Given the description of an element on the screen output the (x, y) to click on. 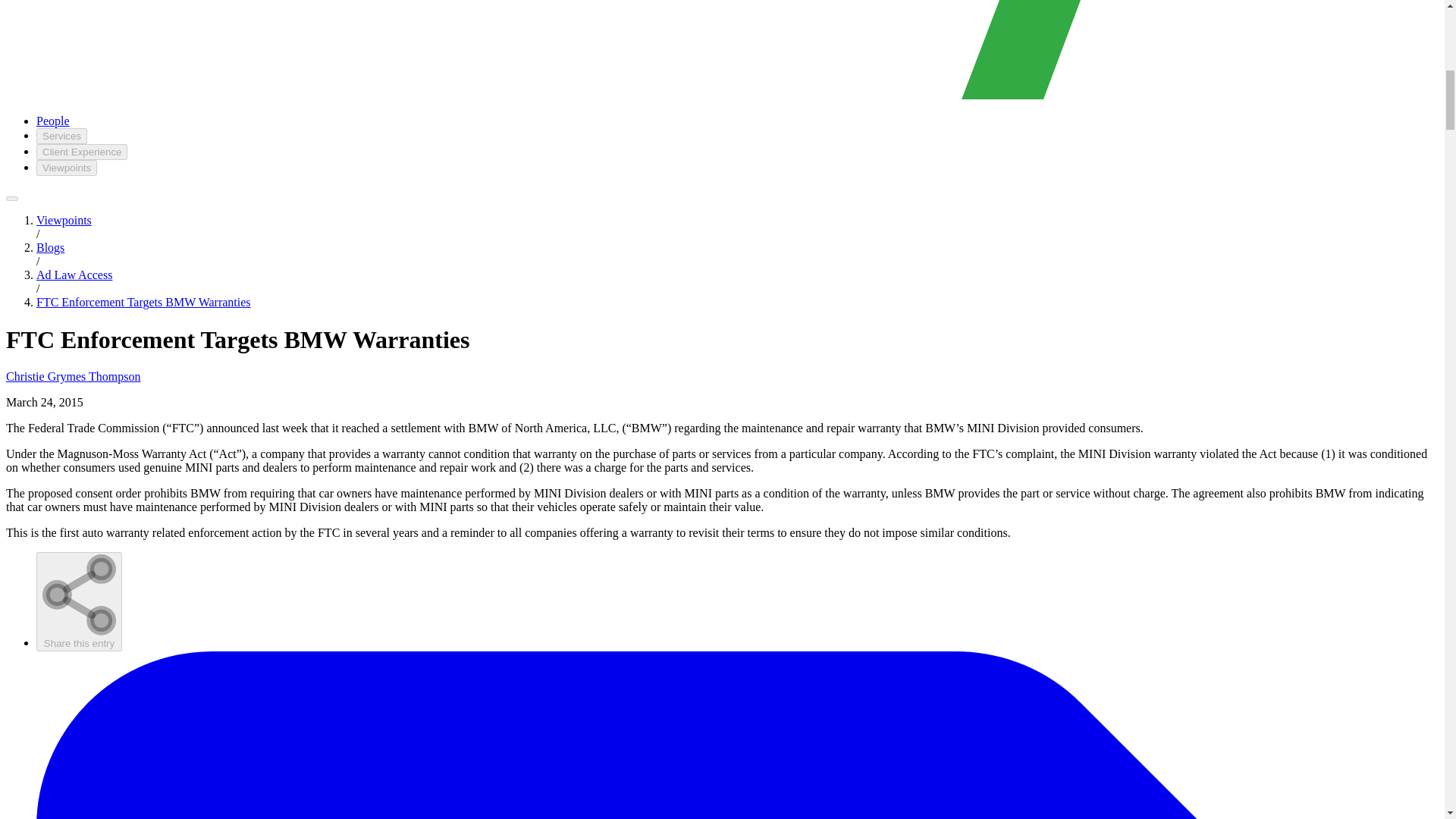
People (52, 120)
Services (61, 135)
